Given the description of an element on the screen output the (x, y) to click on. 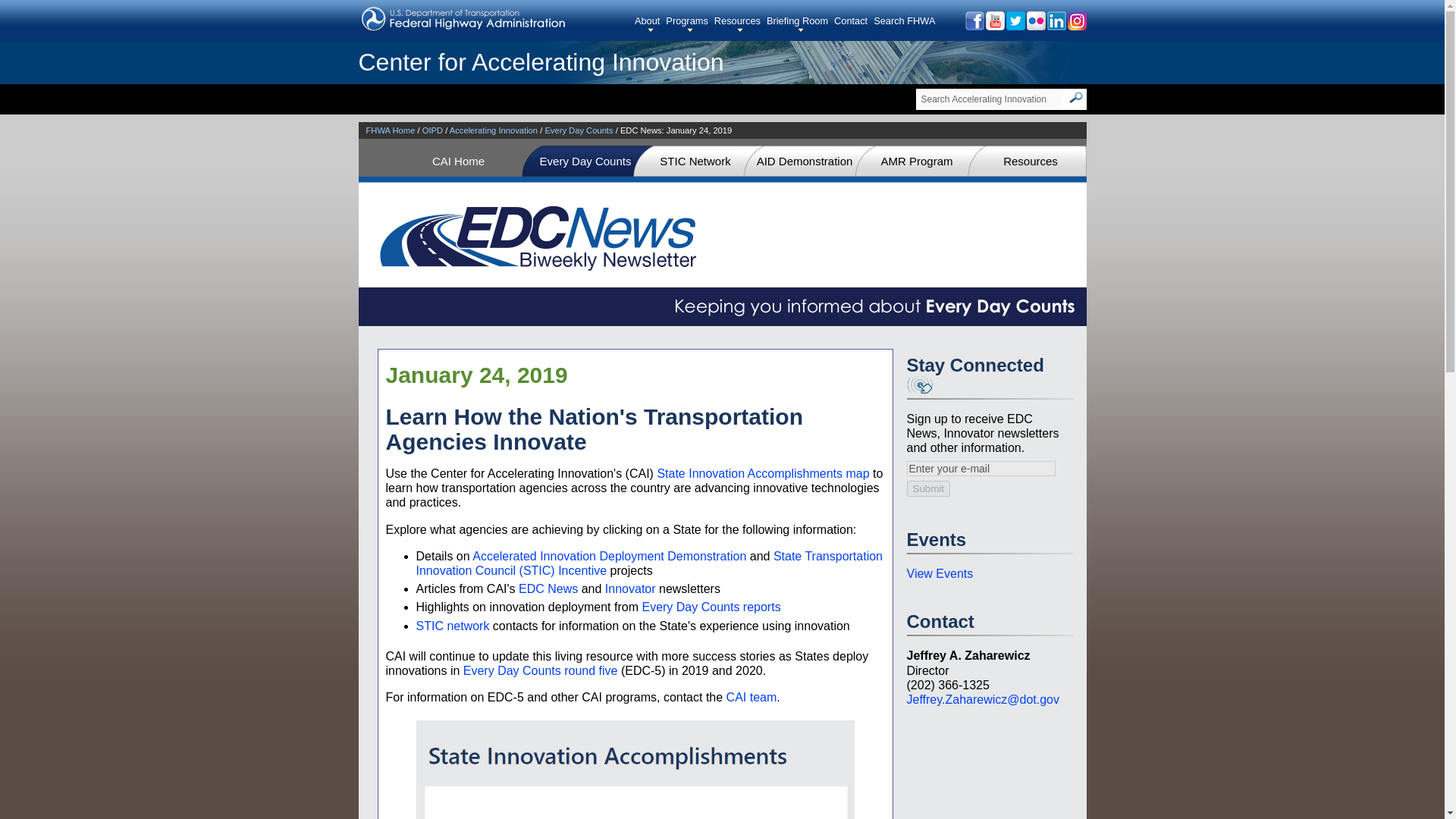
Submit (928, 488)
Programs (689, 23)
Enter your e-mail (982, 468)
Briefing Room (800, 23)
About (649, 23)
Resources (740, 23)
Search Accelerating Innovation (989, 99)
Search Accelerating Innovation (989, 99)
